Given the description of an element on the screen output the (x, y) to click on. 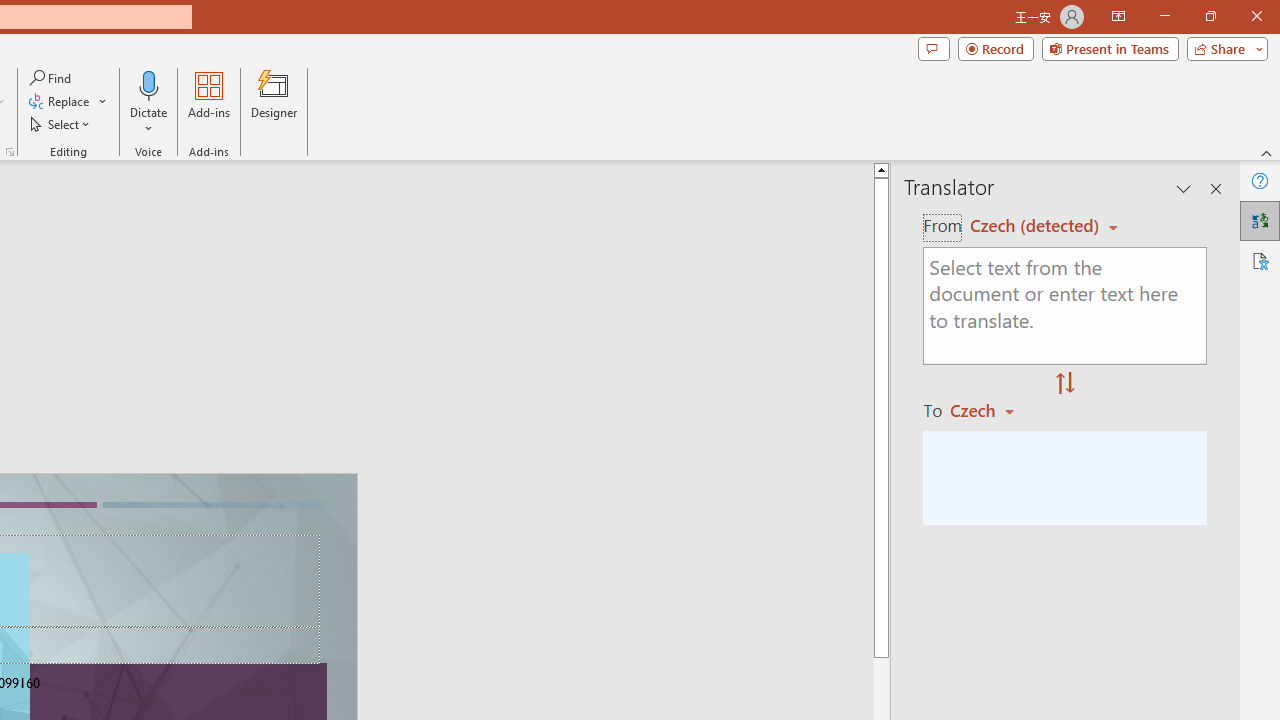
Swap "from" and "to" languages. (1065, 383)
